Given the description of an element on the screen output the (x, y) to click on. 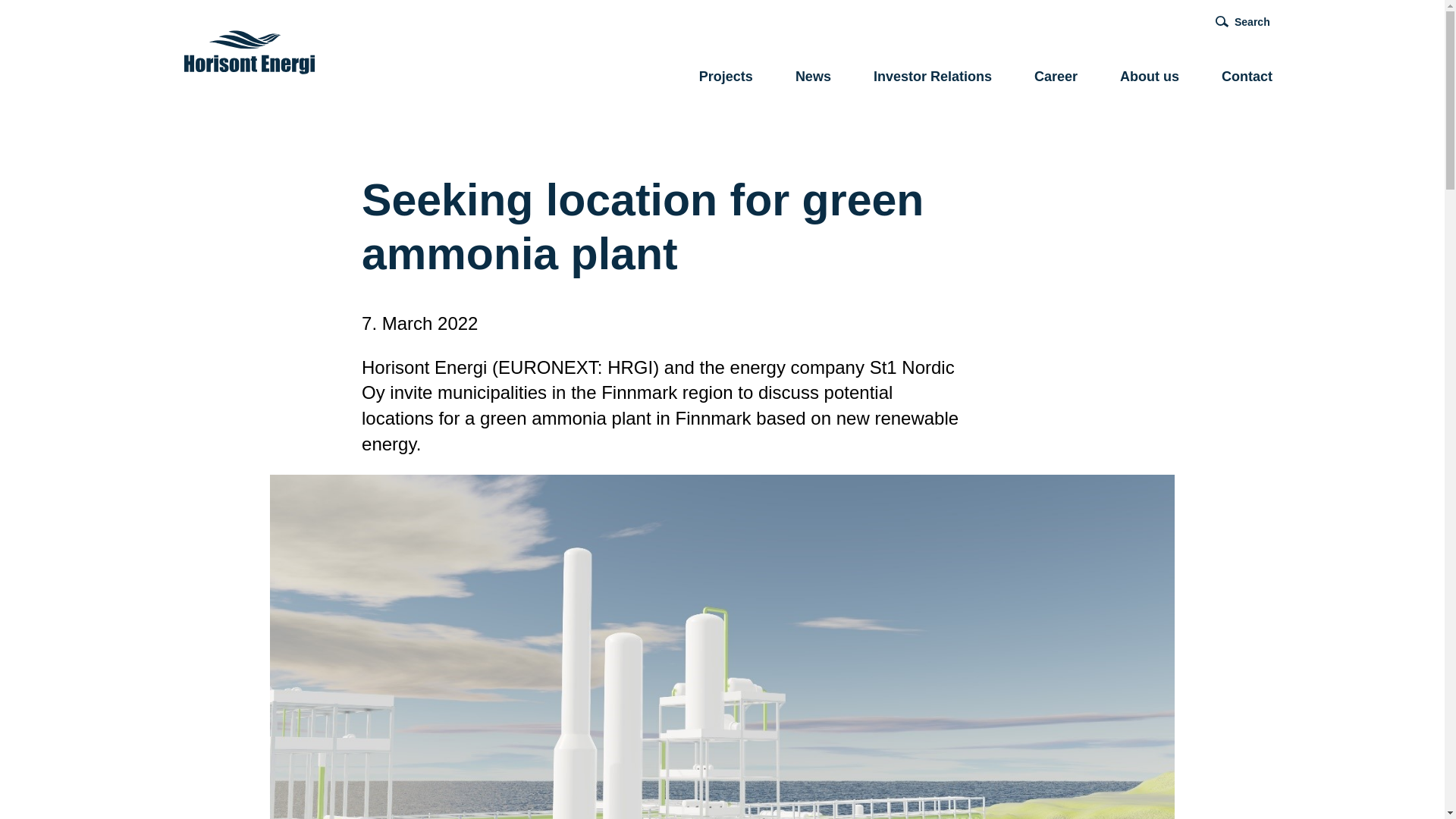
Contact (1246, 78)
Projects (725, 78)
Career (1055, 78)
About us (1149, 78)
Investor Relations (932, 78)
News (812, 78)
